Given the description of an element on the screen output the (x, y) to click on. 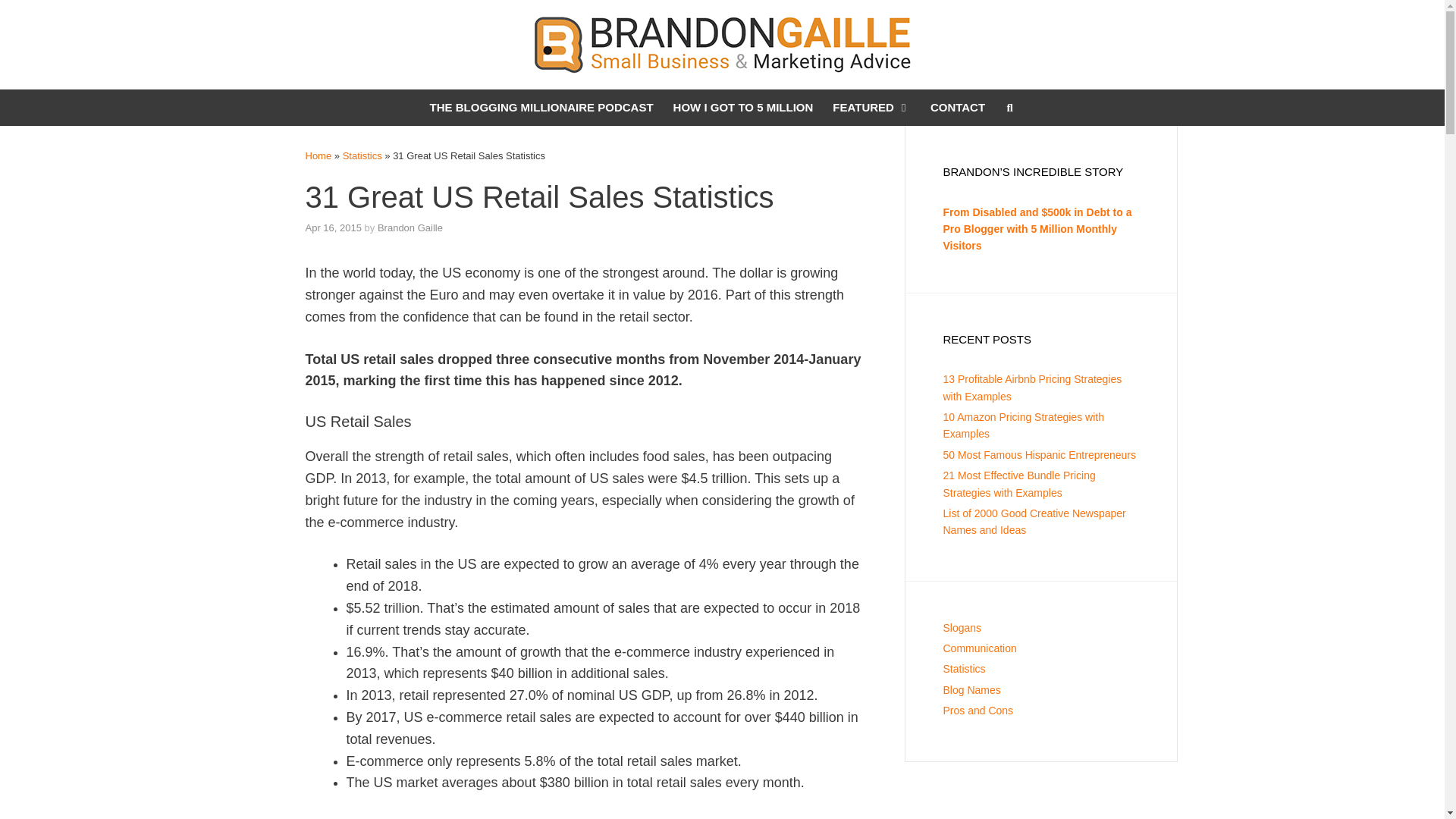
Slogans (962, 627)
HOW I GOT TO 5 MILLION (743, 107)
FEATURED (871, 107)
13 Profitable Airbnb Pricing Strategies with Examples (1032, 387)
CONTACT (957, 107)
Brandon Gaille (409, 227)
Statistics (964, 668)
THE BLOGGING MILLIONAIRE PODCAST (541, 107)
50 Most Famous Hispanic Entrepreneurs (1039, 454)
